Given the description of an element on the screen output the (x, y) to click on. 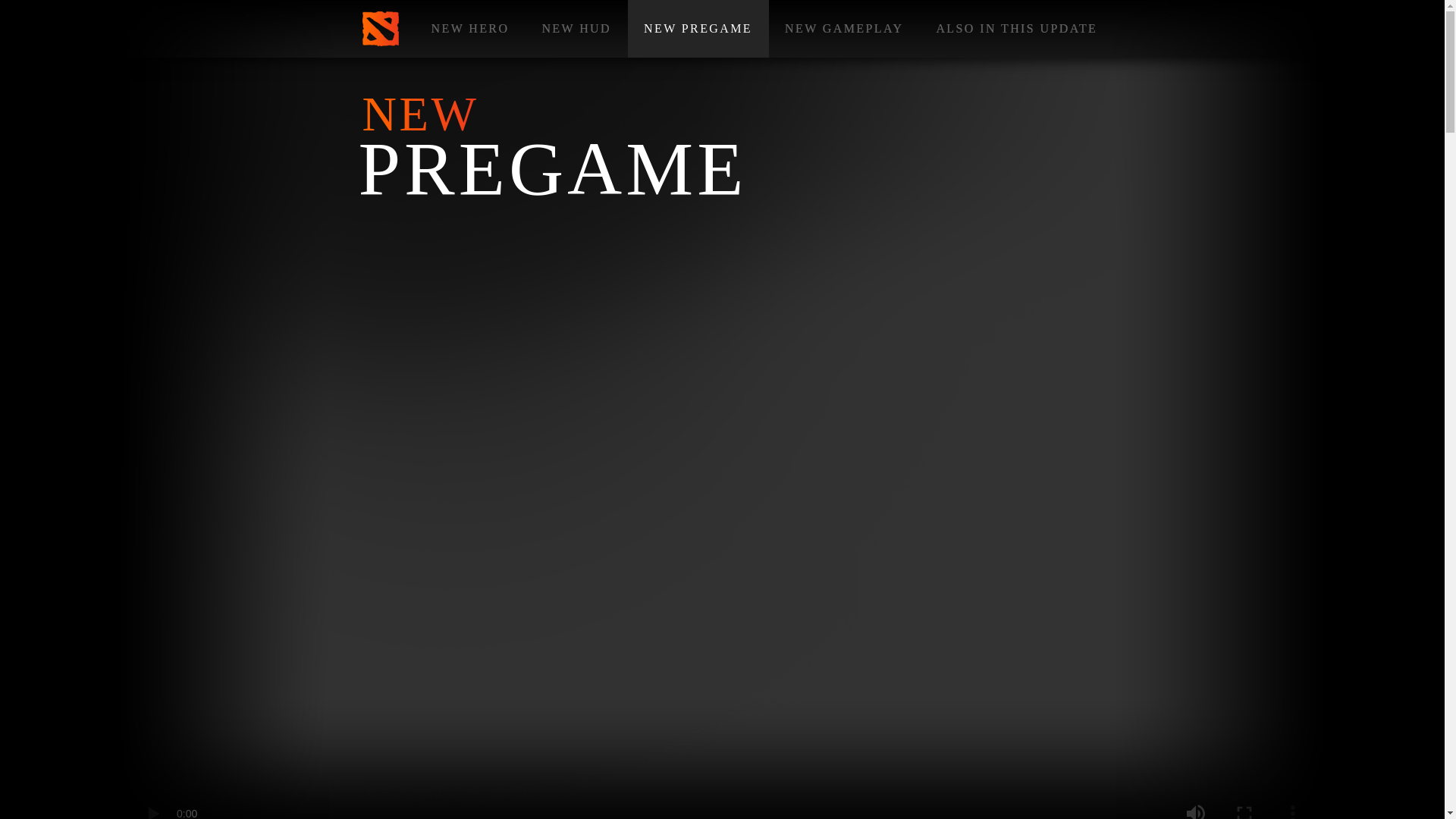
NEW HUD (576, 28)
NEW HERO (469, 28)
NEW PREGAME (697, 28)
ALSO IN THIS UPDATE (1016, 28)
NEW GAMEPLAY (844, 28)
